Given the description of an element on the screen output the (x, y) to click on. 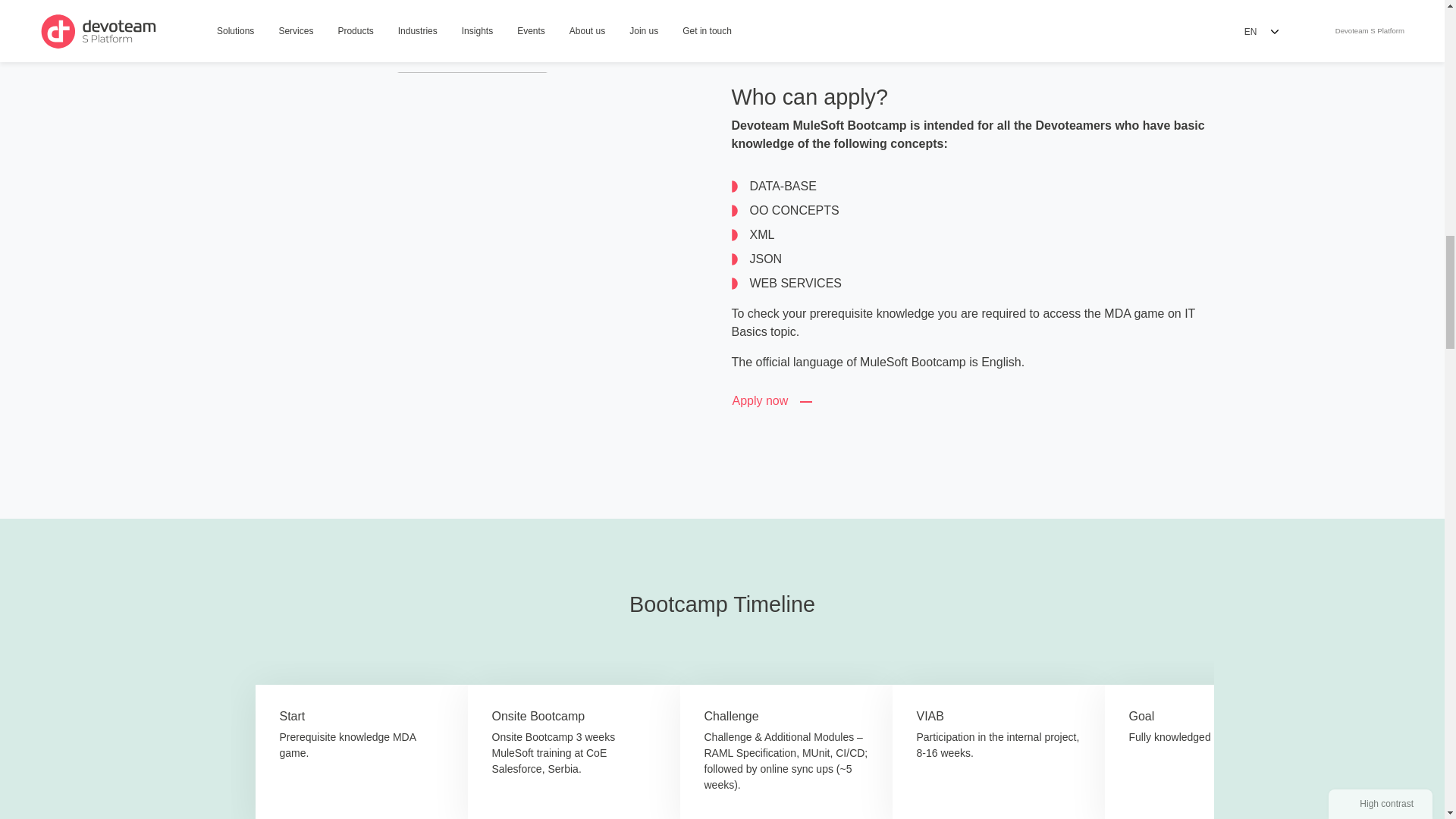
Apply now (774, 401)
